Given the description of an element on the screen output the (x, y) to click on. 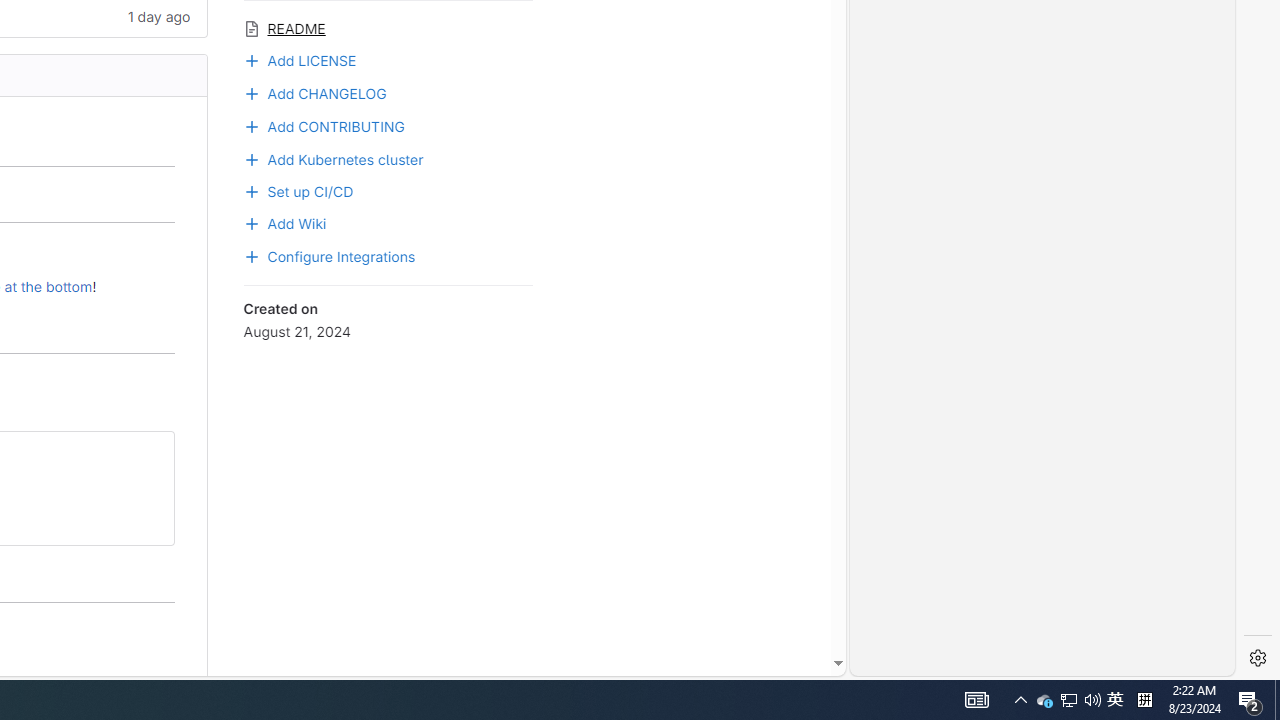
README (387, 26)
Add CHANGELOG (314, 91)
Class: s16 gl-mr-3 (251, 223)
Add LICENSE (387, 59)
Set up CI/CD (298, 189)
Add Kubernetes cluster (333, 158)
Add CHANGELOG (387, 92)
Class: s16 icon gl-mr-3 gl-text-gray-500 (251, 28)
Add Kubernetes cluster (387, 158)
Class: s16 gl-text-blue-500! gl-mr-3 (251, 126)
Class: s16 gl-blue-500! gl-mr-3 (251, 256)
Class: btn btn-default btn-md gl-button btn-icon has-tooltip (150, 453)
Set up CI/CD (387, 189)
Add Wiki (387, 222)
README (387, 26)
